Given the description of an element on the screen output the (x, y) to click on. 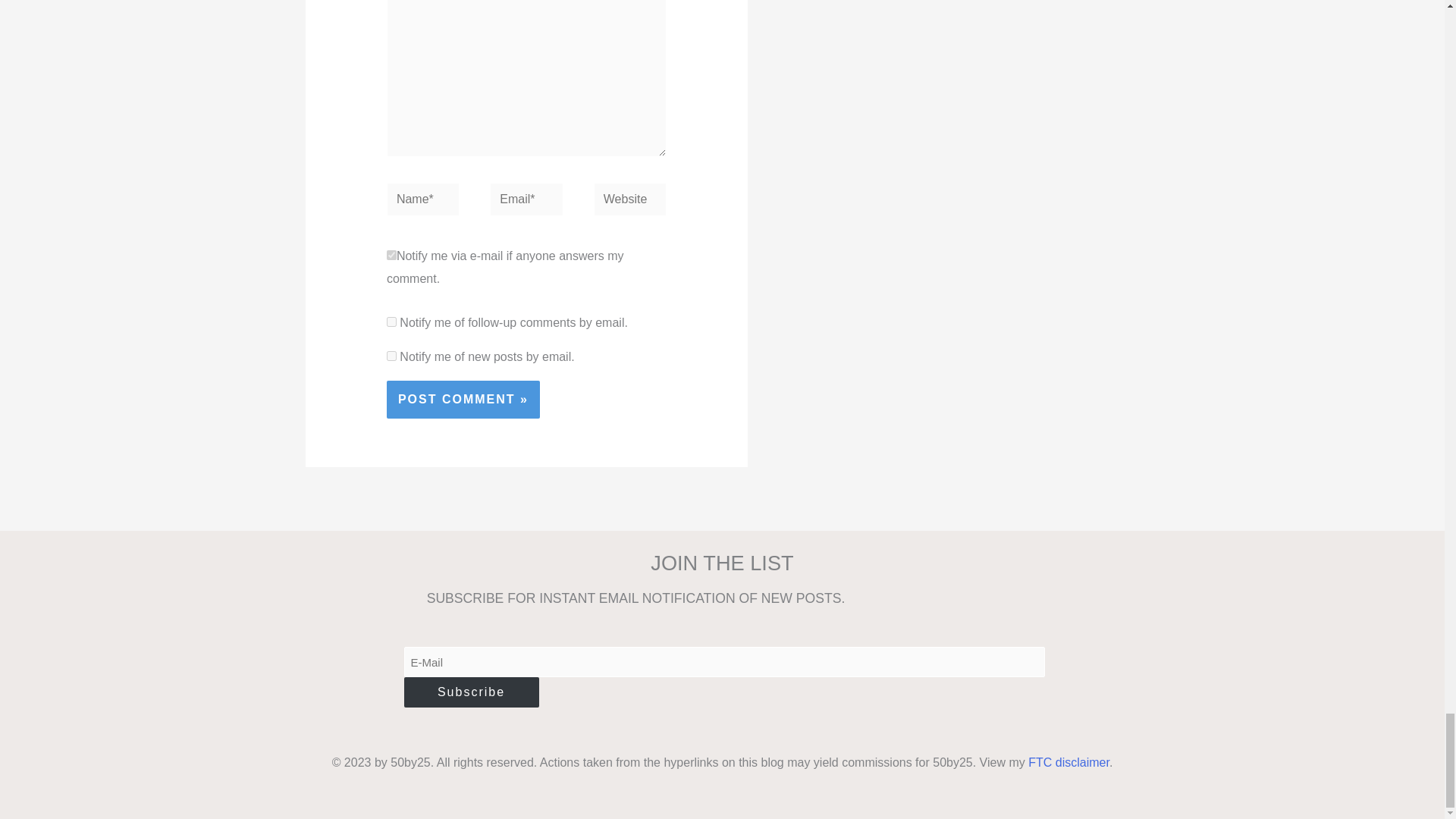
subscribe (391, 356)
subscribe (391, 321)
on (391, 255)
